Given the description of an element on the screen output the (x, y) to click on. 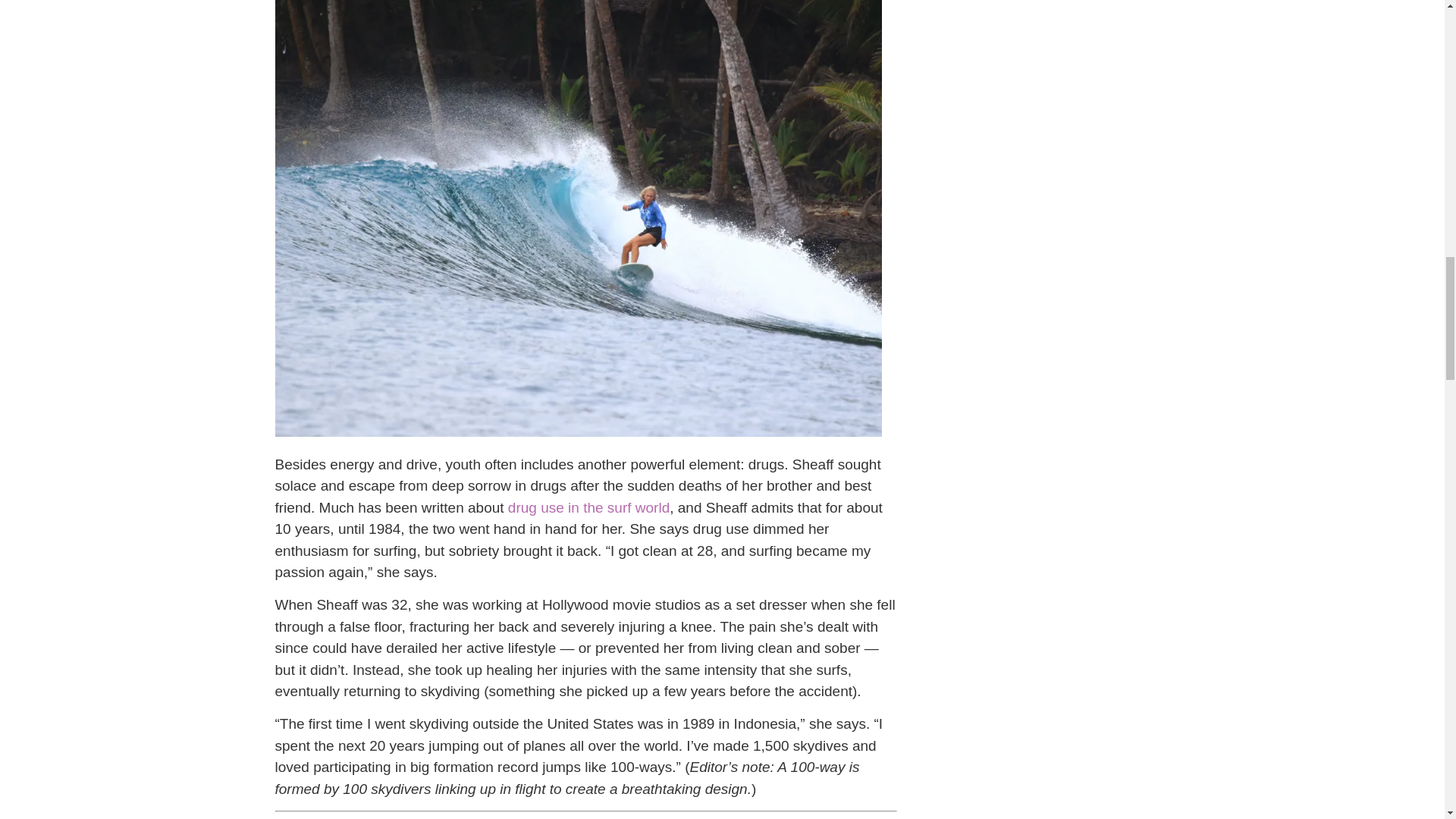
drug use in the surf world (588, 507)
